Given the description of an element on the screen output the (x, y) to click on. 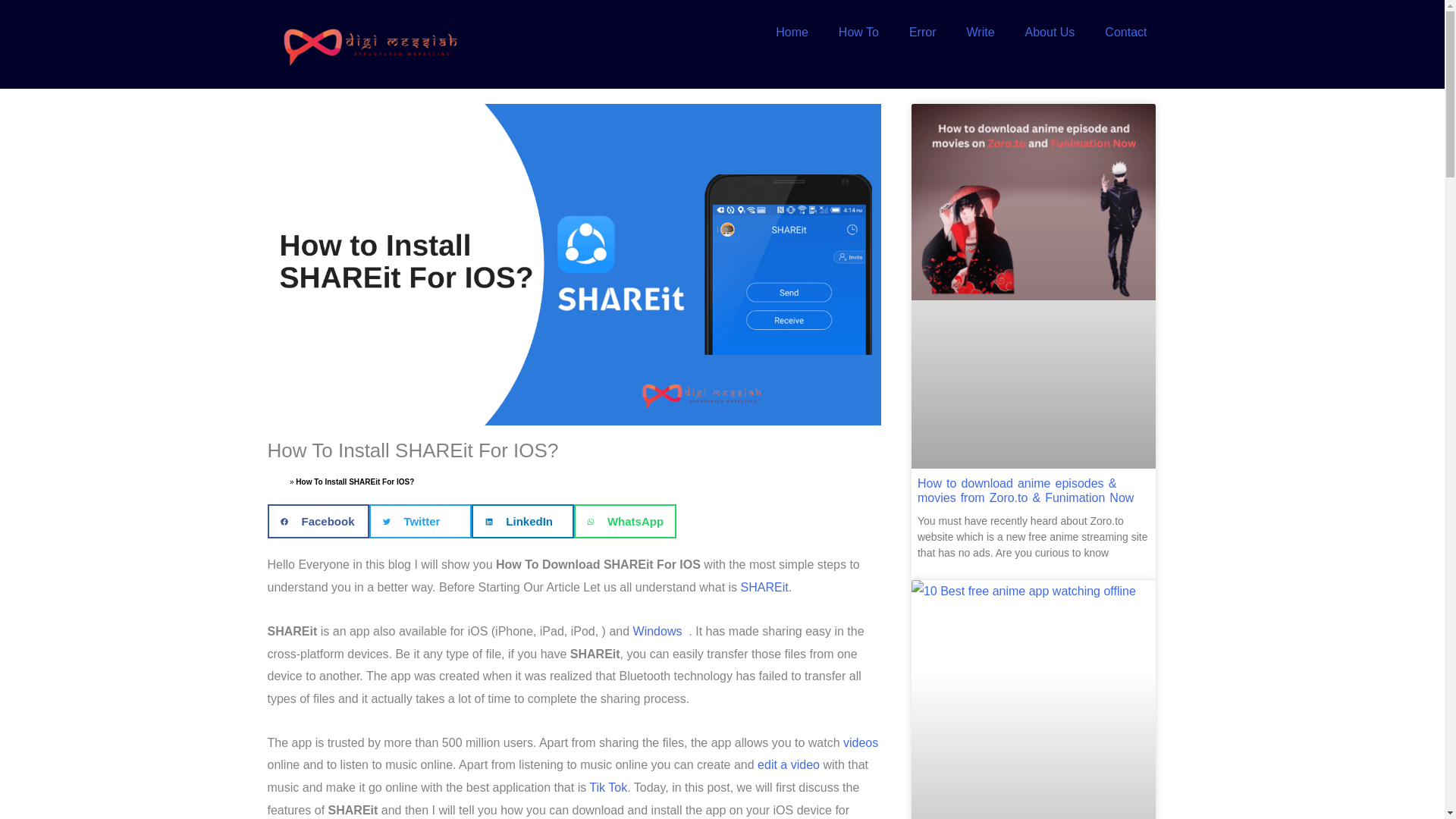
Error (922, 32)
How To (858, 32)
SHAREit (765, 586)
Contact (1125, 32)
About Us (1050, 32)
Windows (657, 631)
videos (860, 742)
Home (276, 481)
Write (979, 32)
Tik Tok (606, 787)
edit a video (788, 764)
Home (792, 32)
